Given the description of an element on the screen output the (x, y) to click on. 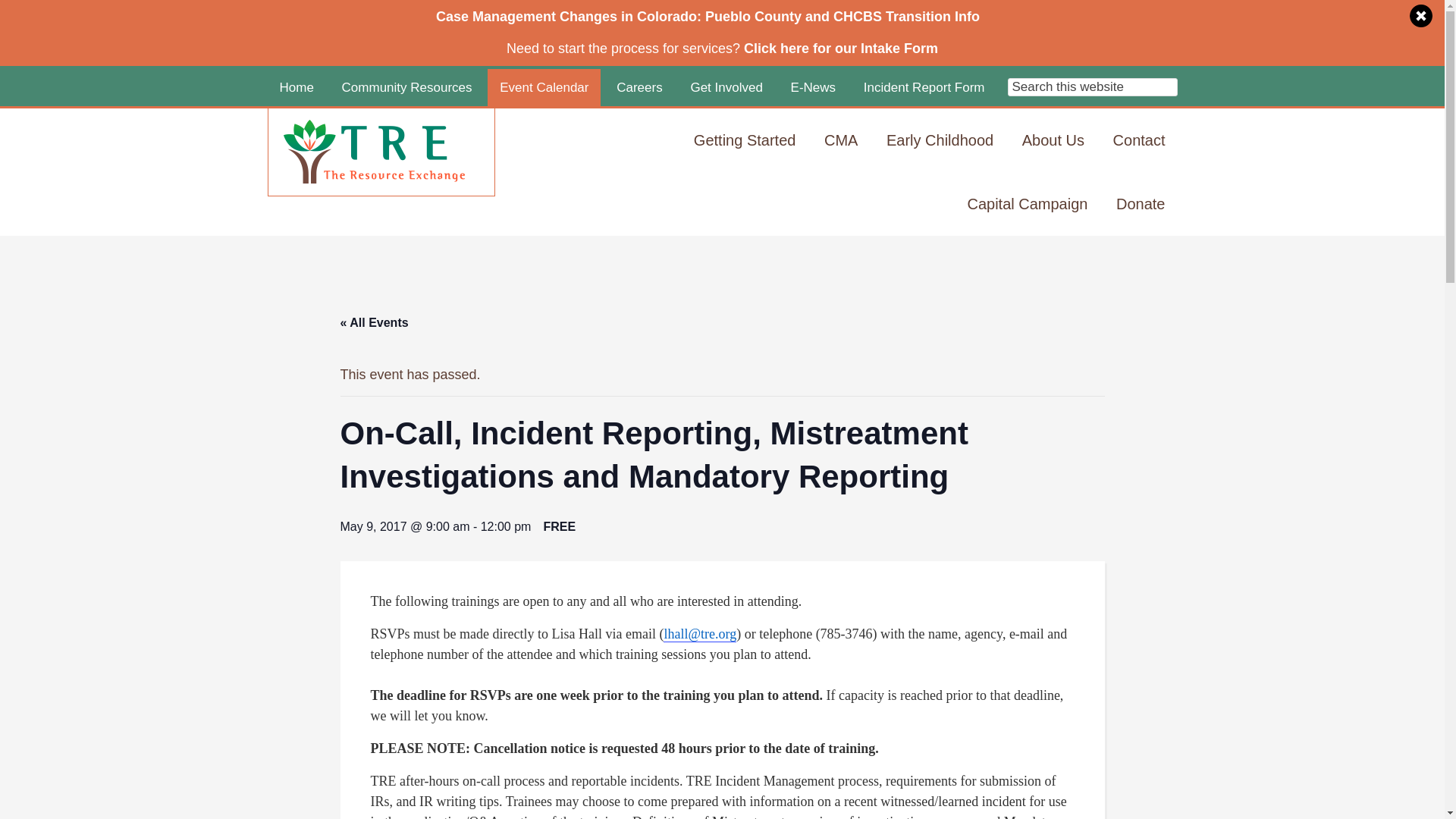
Careers (639, 87)
Event Calendar (543, 87)
Capital Campaign (1027, 203)
TRE (389, 157)
Accessibility Tools (1064, 87)
Contact (1138, 139)
Get Involved (726, 87)
Home (295, 87)
Click here for our Intake Form (840, 48)
Early Childhood (940, 139)
About Us (1053, 139)
